Given the description of an element on the screen output the (x, y) to click on. 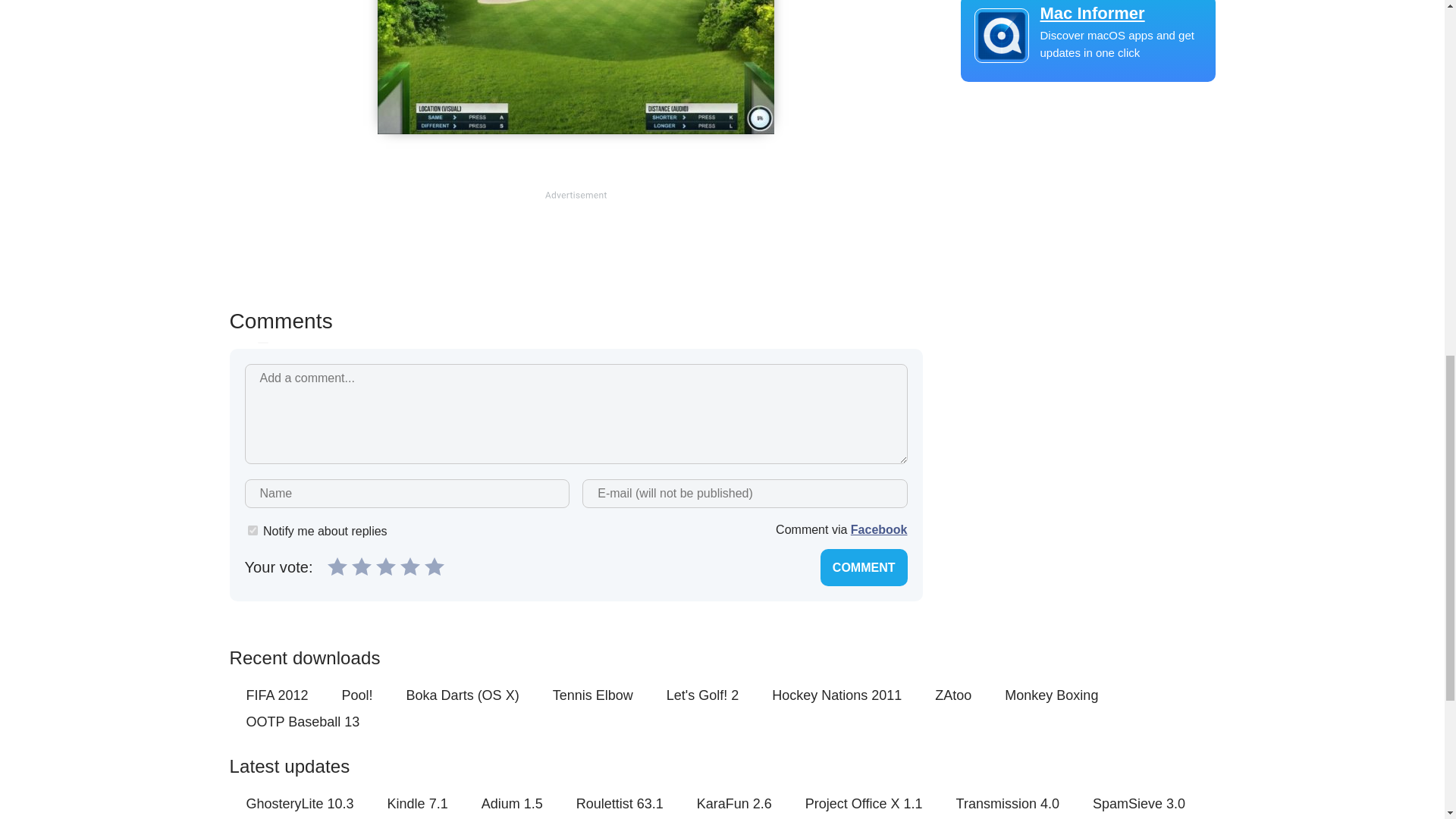
2 (361, 565)
Mac Informer (1087, 13)
Let's Golf! 2 (702, 695)
Comment (864, 567)
Comment (864, 567)
4 (409, 565)
3 (385, 565)
1 (336, 565)
ZAtoo (952, 695)
1 (252, 530)
5 (434, 565)
FIFA 2012 (276, 695)
Tennis Elbow (593, 695)
Pool! (357, 695)
Hockey Nations 2011 (836, 695)
